Given the description of an element on the screen output the (x, y) to click on. 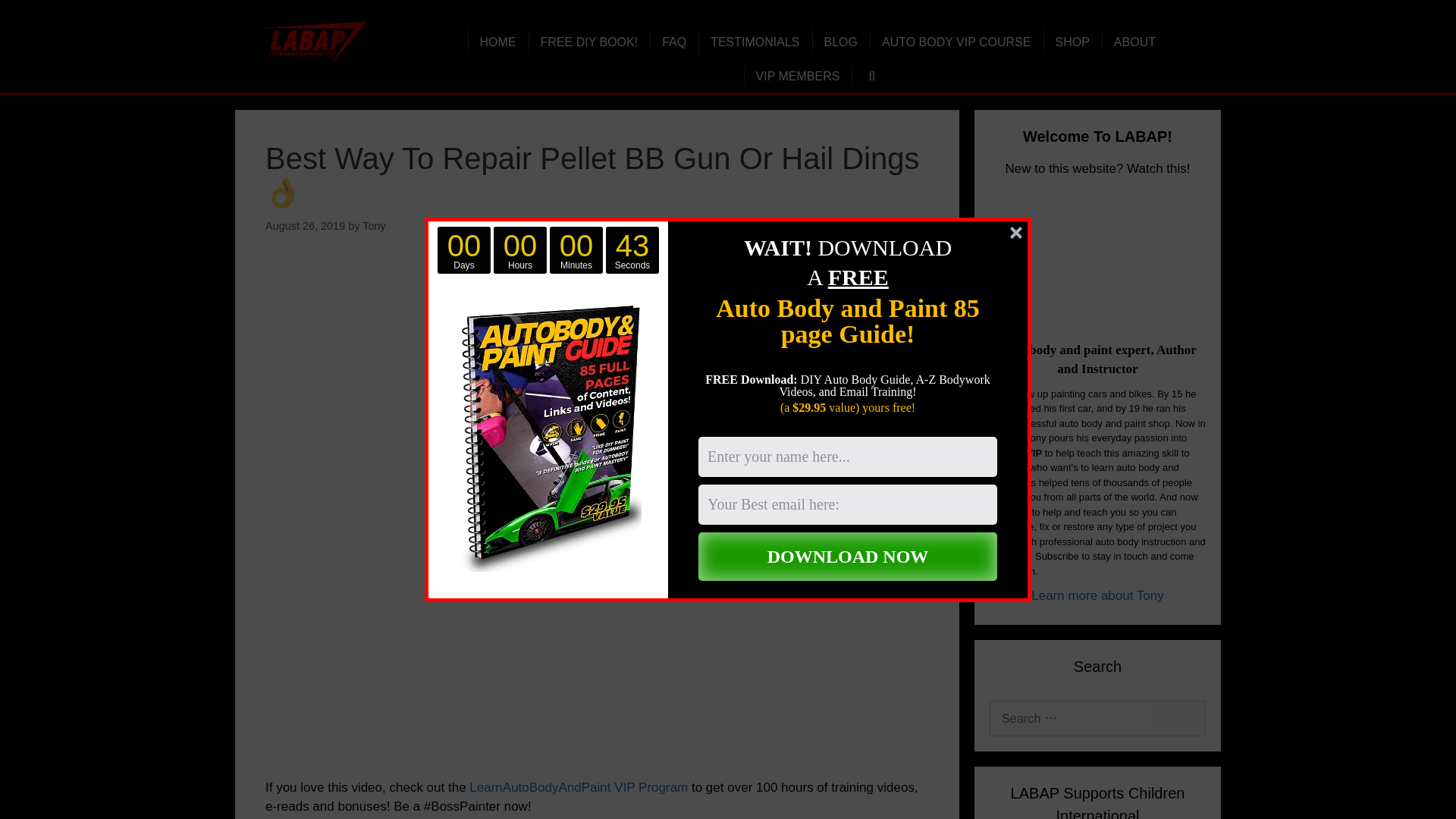
FAQ (673, 41)
VIP MEMBERS (797, 75)
AUTO BODY VIP COURSE (956, 41)
SHOP (1072, 41)
DOWNLOAD NOW (847, 556)
ABOUT (1134, 41)
Learn more about Tony (1096, 595)
Search for: (1097, 719)
View all posts by Tony (373, 225)
TESTIMONIALS (754, 41)
HOME (497, 41)
FREE DIY BOOK! (589, 41)
BLOG (840, 41)
LearnAutoBodyAndPaint VIP Program (577, 787)
Close (1016, 232)
